Given the description of an element on the screen output the (x, y) to click on. 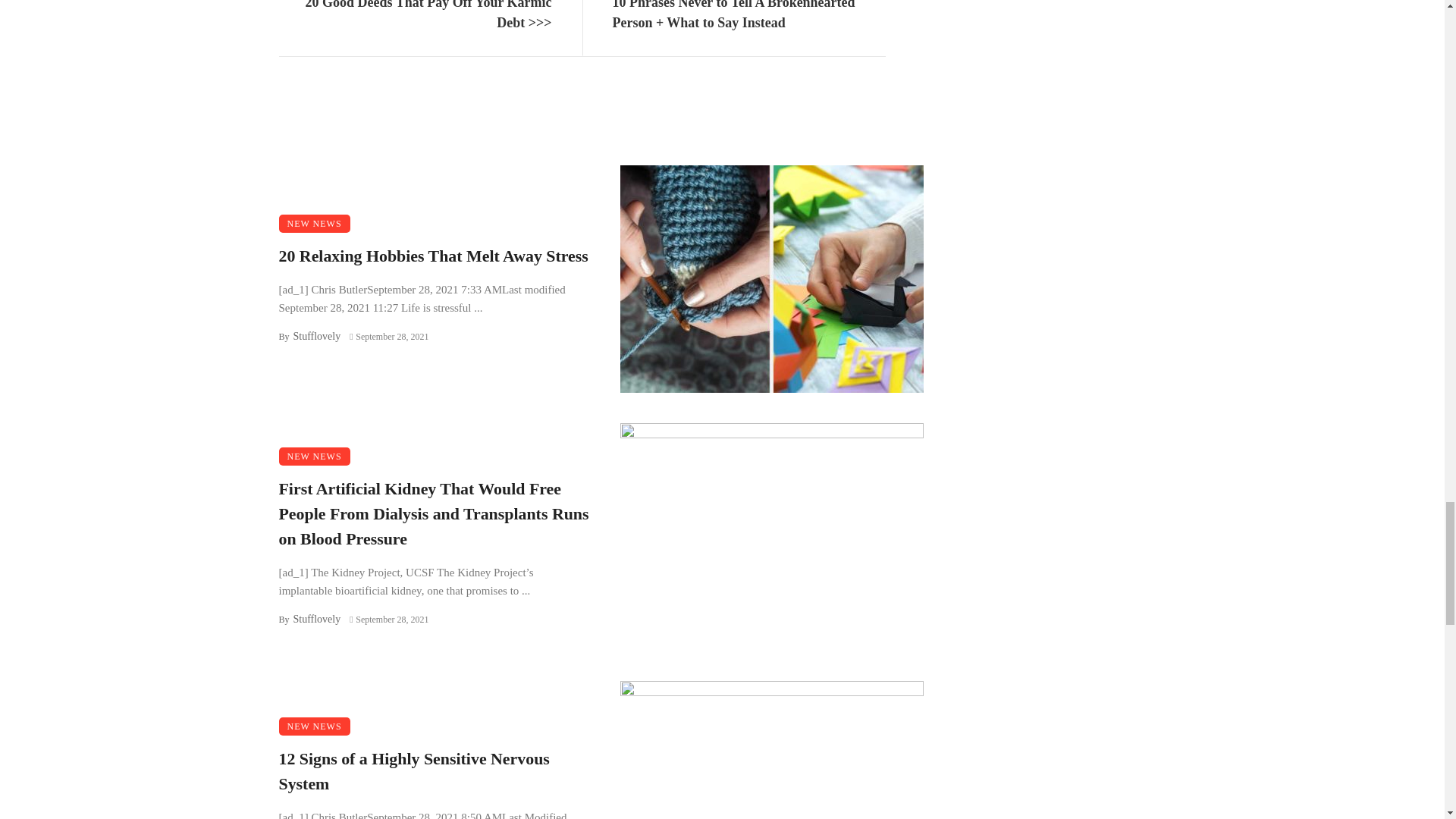
Stufflovely (316, 336)
NEW NEWS (314, 223)
20 Relaxing Hobbies That Melt Away Stress (433, 256)
NEW NEWS (314, 456)
September 28, 2021 at 11:21 pm (388, 336)
September 28, 2021 at 10:34 pm (388, 619)
